Given the description of an element on the screen output the (x, y) to click on. 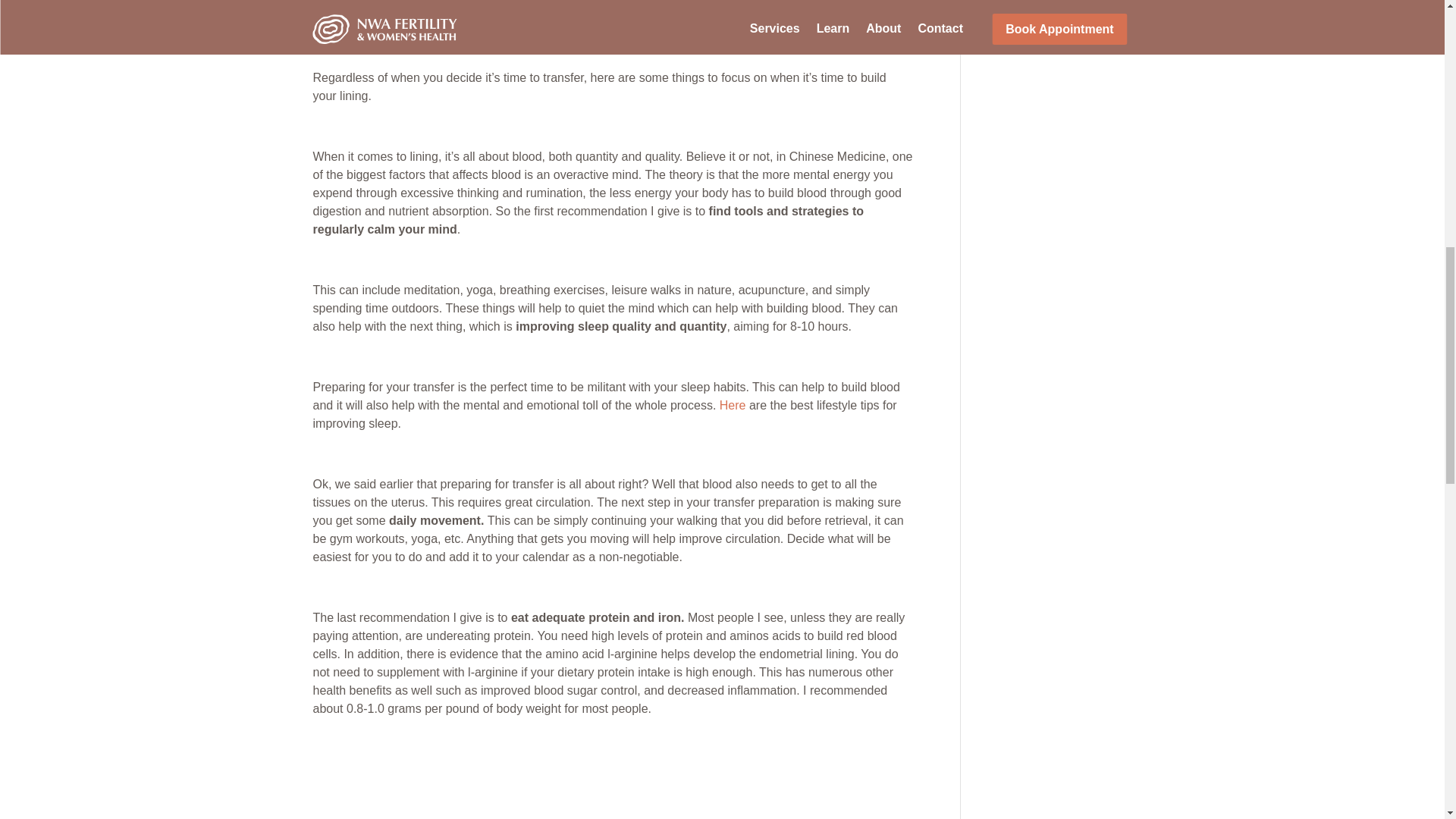
Here (732, 404)
